Given the description of an element on the screen output the (x, y) to click on. 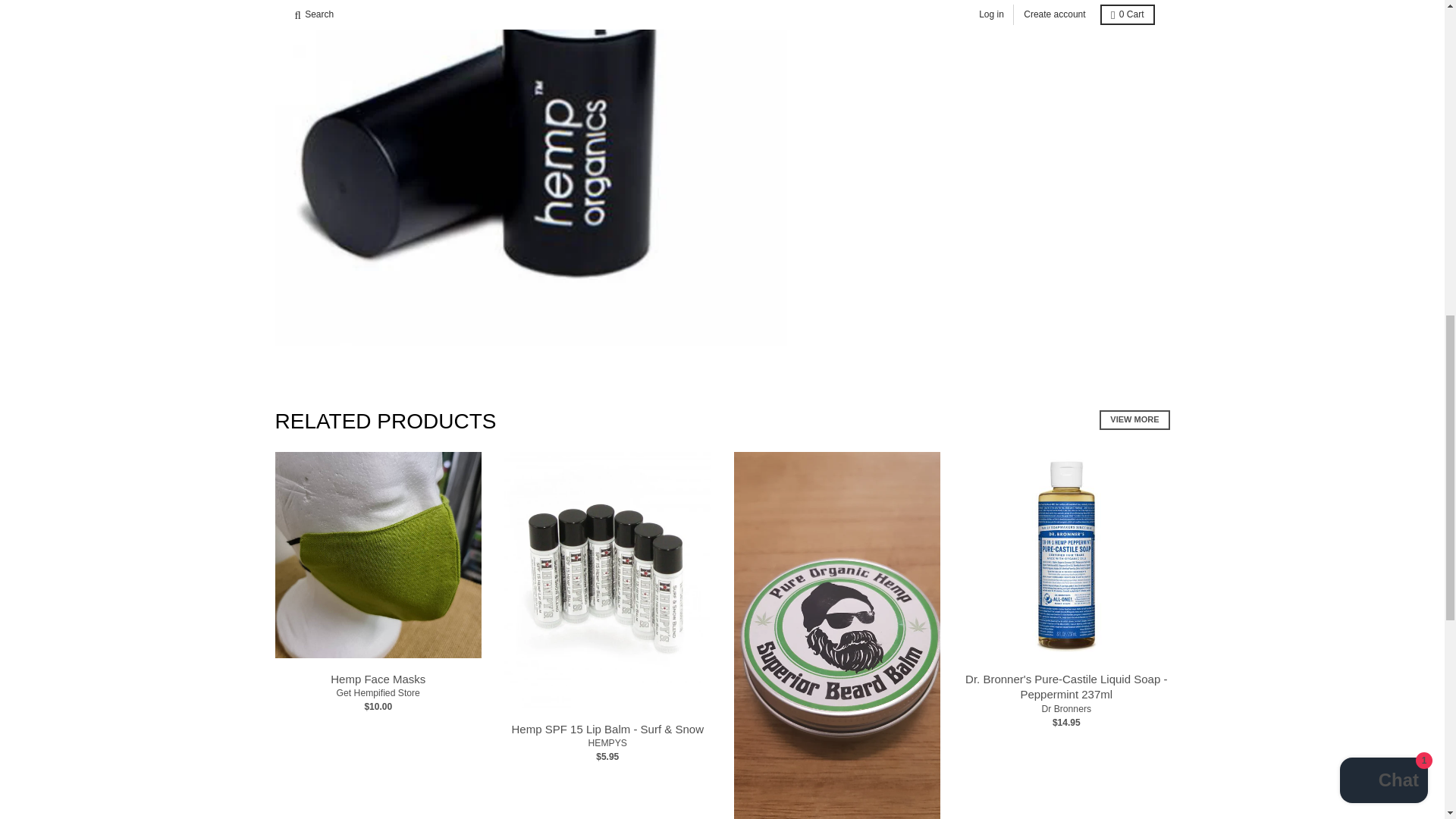
Dr Bronners (1065, 708)
Get Hempified Store (378, 692)
HEMPYS (607, 742)
